Given the description of an element on the screen output the (x, y) to click on. 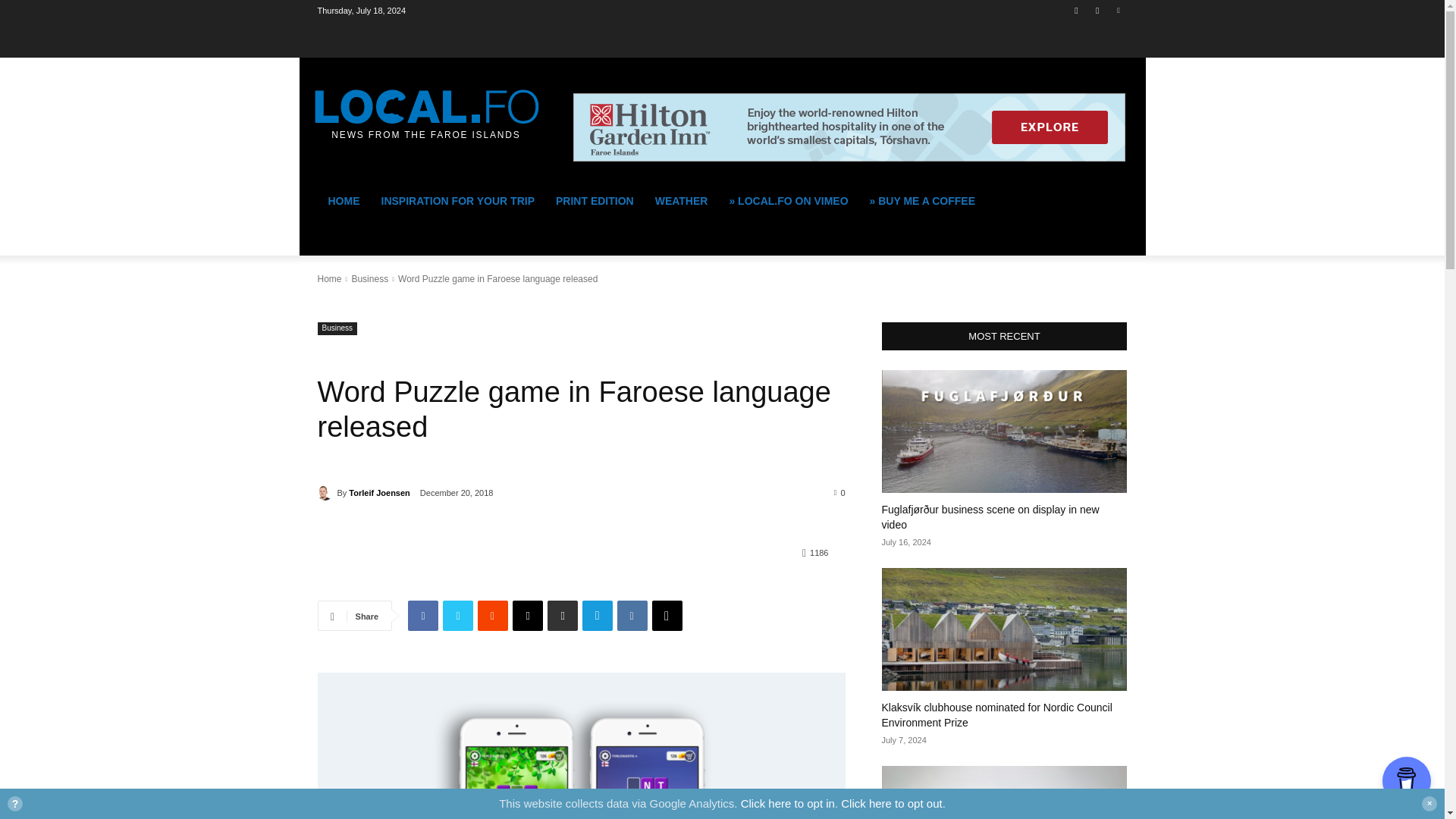
Email (527, 615)
Torleif Joensen (379, 492)
VK (632, 615)
Business (336, 328)
HOME (343, 200)
Copy URL (667, 615)
WEATHER (682, 200)
Print (562, 615)
NEWS FROM THE FAROE ISLANDS (425, 108)
Click here to opt out of Google Analytics (891, 802)
Facebook (422, 615)
Telegram (597, 615)
Google Translate adds Faroese language (1003, 792)
